Given the description of an element on the screen output the (x, y) to click on. 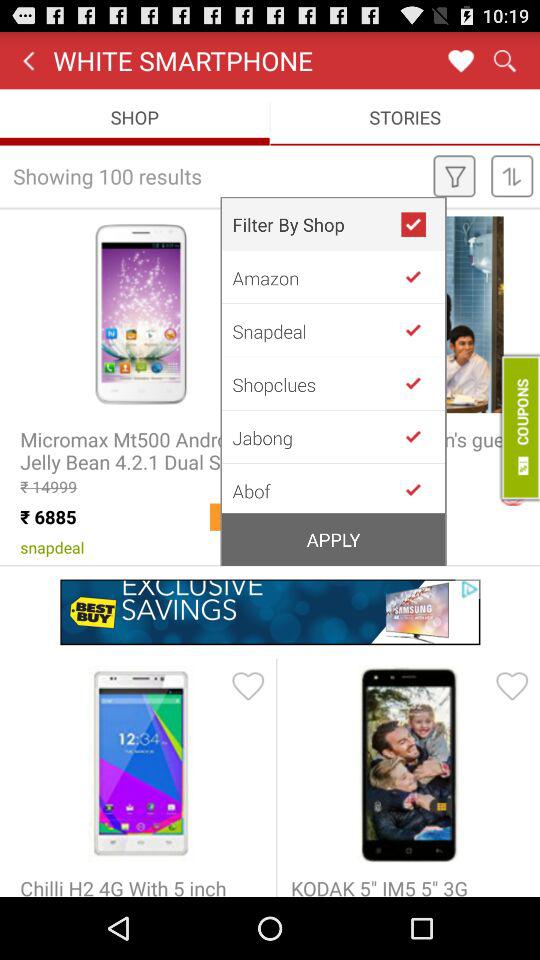
press the button above the apply (316, 489)
